Given the description of an element on the screen output the (x, y) to click on. 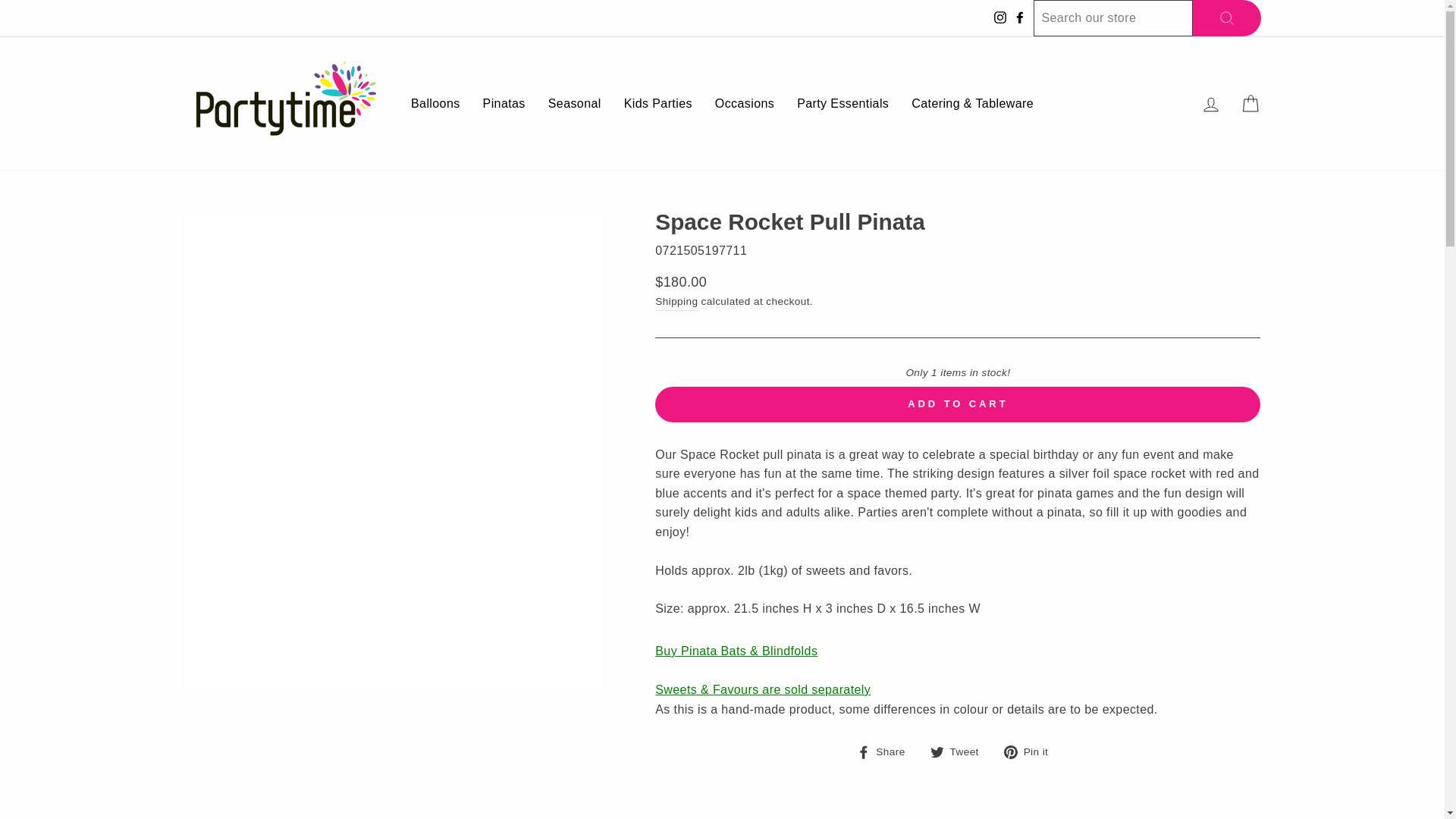
Tweet on Twitter (960, 751)
Share on Facebook (887, 751)
Pin on Pinterest (1031, 751)
